Given the description of an element on the screen output the (x, y) to click on. 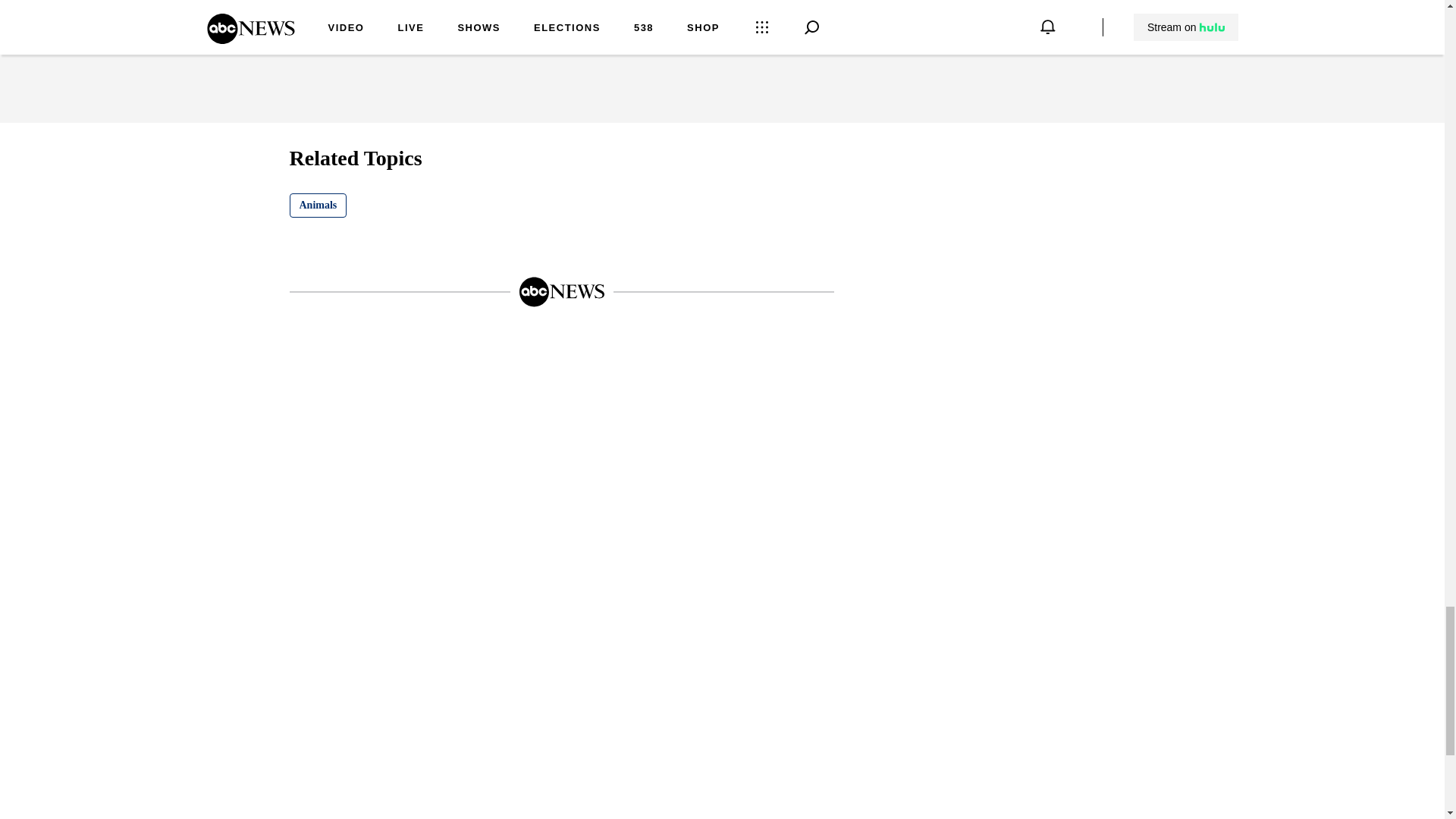
Animals (318, 205)
